Given the description of an element on the screen output the (x, y) to click on. 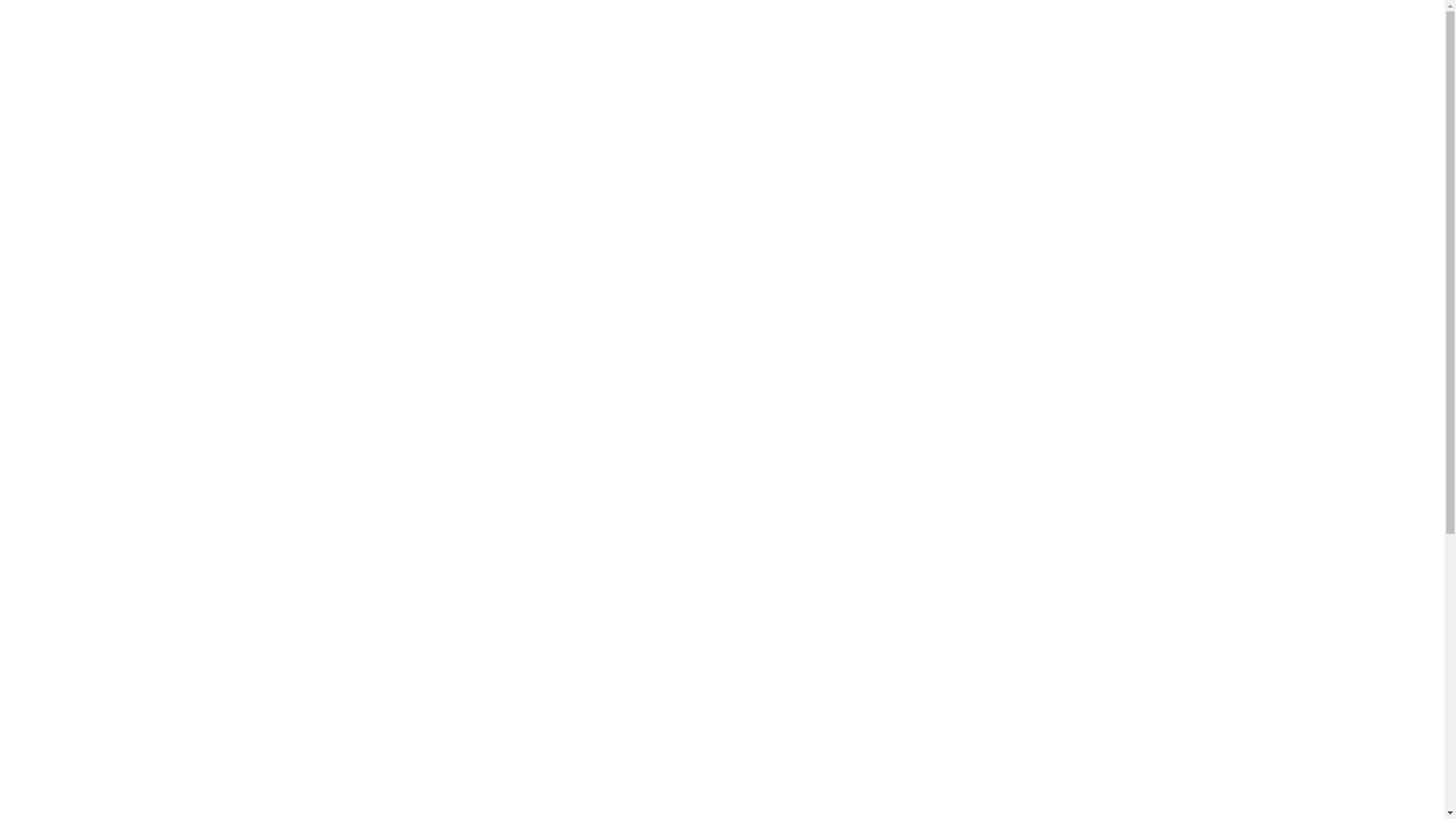
Mostyn Copper Element type: text (386, 60)
Expertise Element type: text (881, 60)
Contact Element type: text (1091, 60)
Education Element type: text (331, 474)
Projects Element type: text (955, 60)
UNSW Element type: text (391, 474)
Clients Element type: text (1023, 60)
About Element type: text (813, 60)
